Given the description of an element on the screen output the (x, y) to click on. 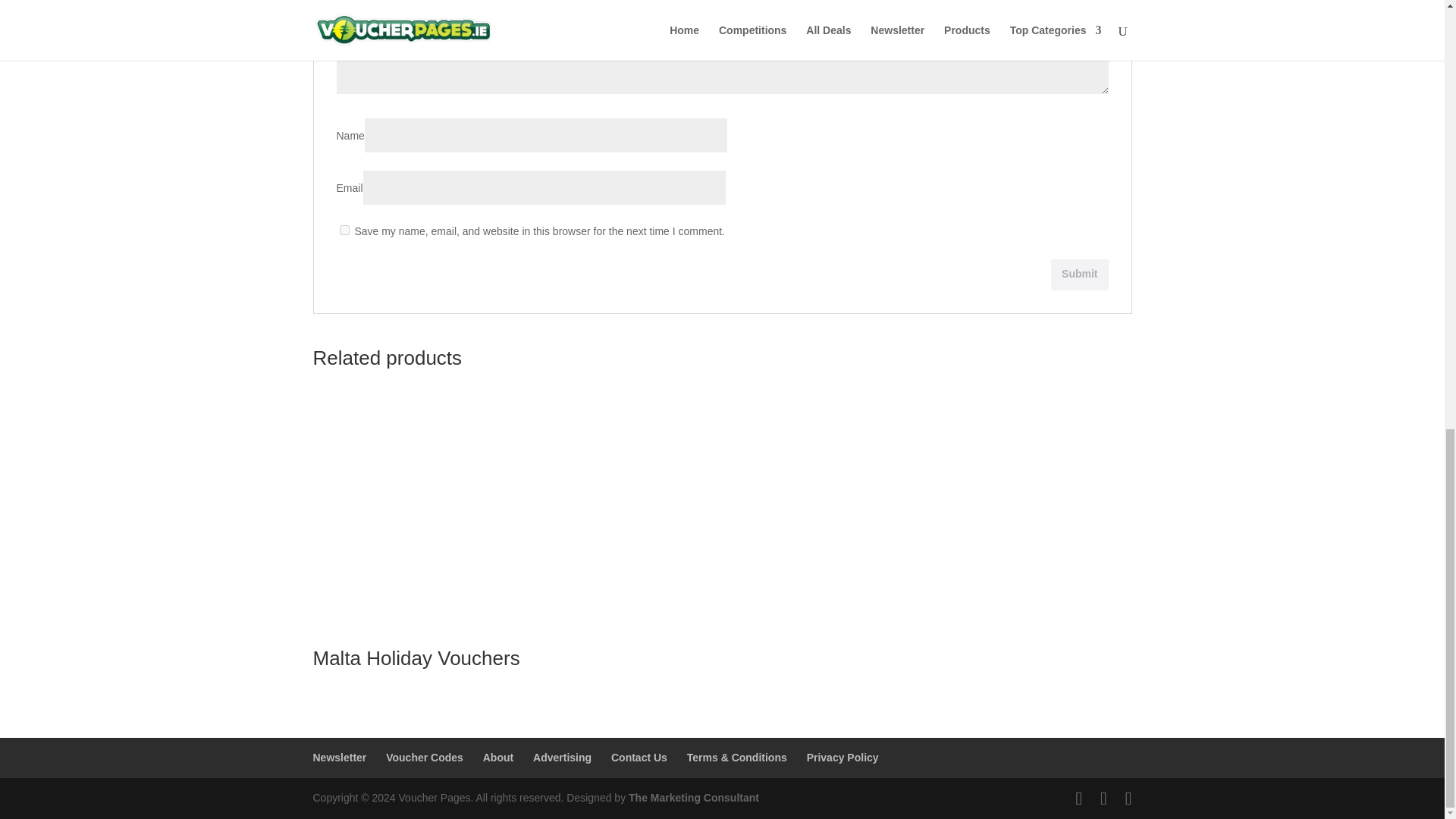
Contact Us (638, 757)
Voucher Codes (424, 757)
About (498, 757)
The Marketing Consultant (693, 797)
yes (344, 230)
Submit (1079, 274)
Newsletter (339, 757)
Premium WordPress Themes (693, 797)
Advertising (561, 757)
Privacy Policy (842, 757)
